Given the description of an element on the screen output the (x, y) to click on. 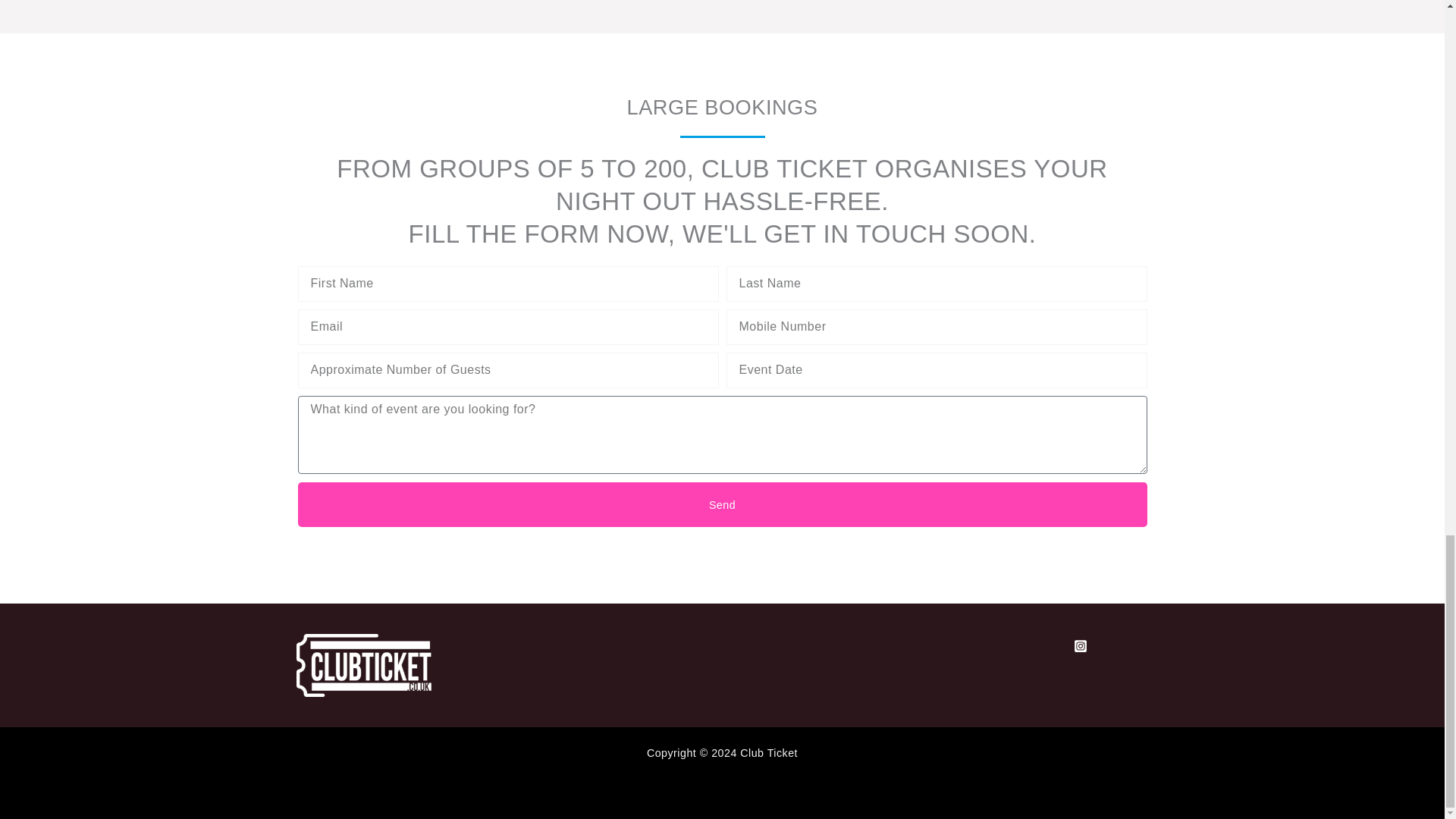
Send (722, 504)
